Given the description of an element on the screen output the (x, y) to click on. 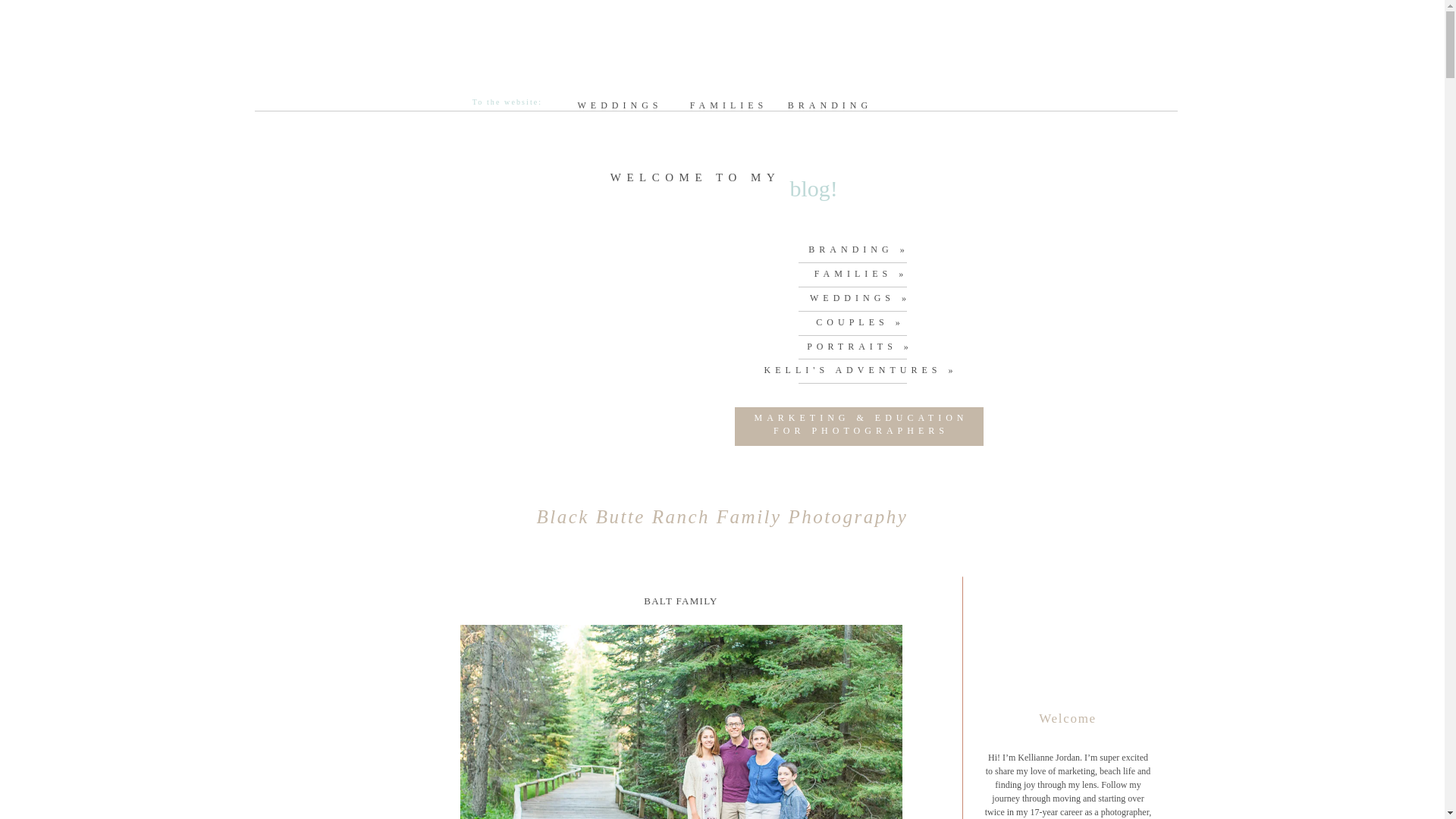
FAMILIES (729, 102)
WELCOME TO MY (695, 184)
WEDDINGS (620, 102)
BRANDING (830, 102)
blog! (946, 212)
